Given the description of an element on the screen output the (x, y) to click on. 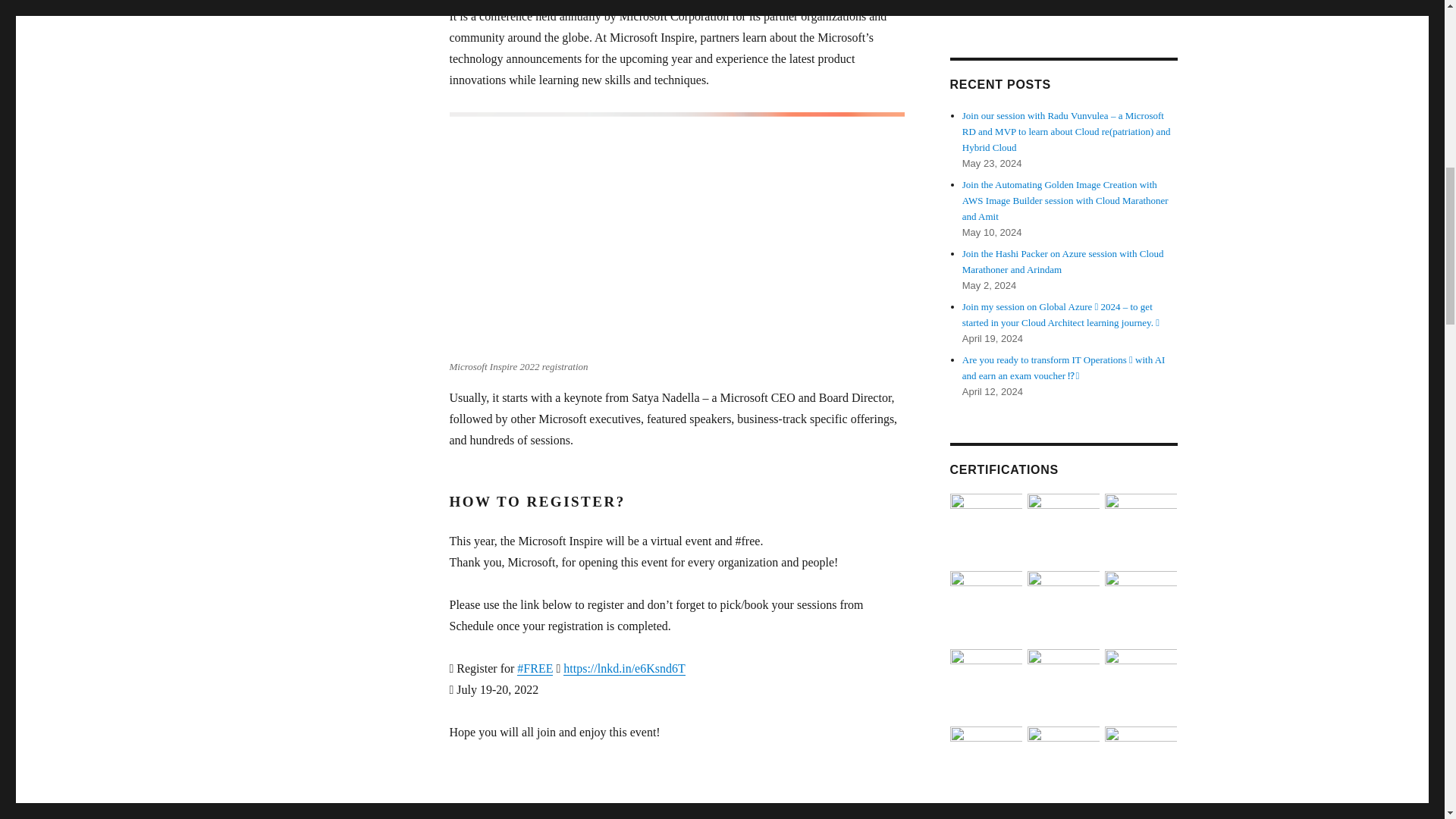
Microsoft MVP profile (995, 6)
